Given the description of an element on the screen output the (x, y) to click on. 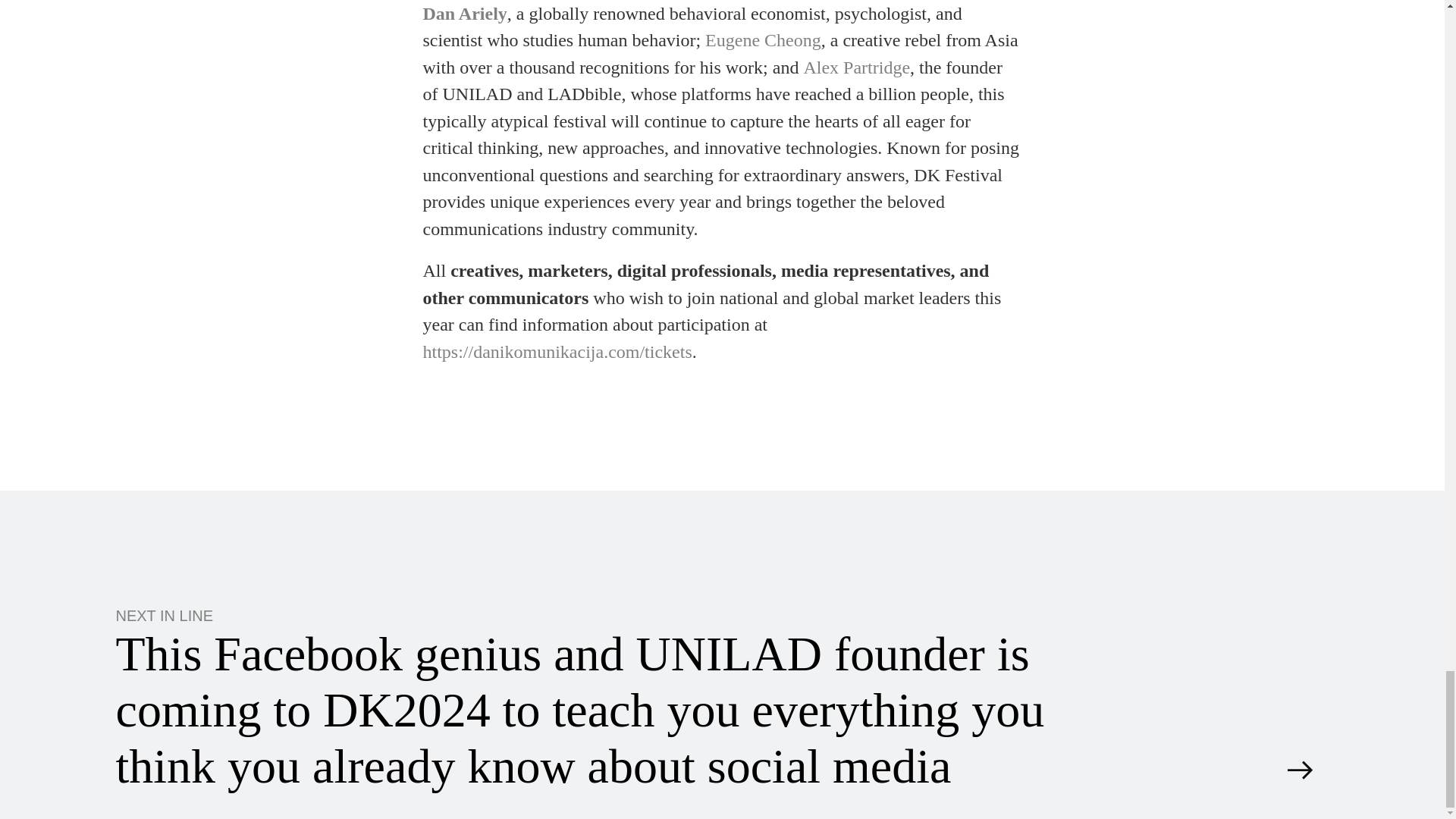
Eugene Cheong (762, 40)
Dan Ariely (464, 13)
Alex Partridge (856, 67)
